Given the description of an element on the screen output the (x, y) to click on. 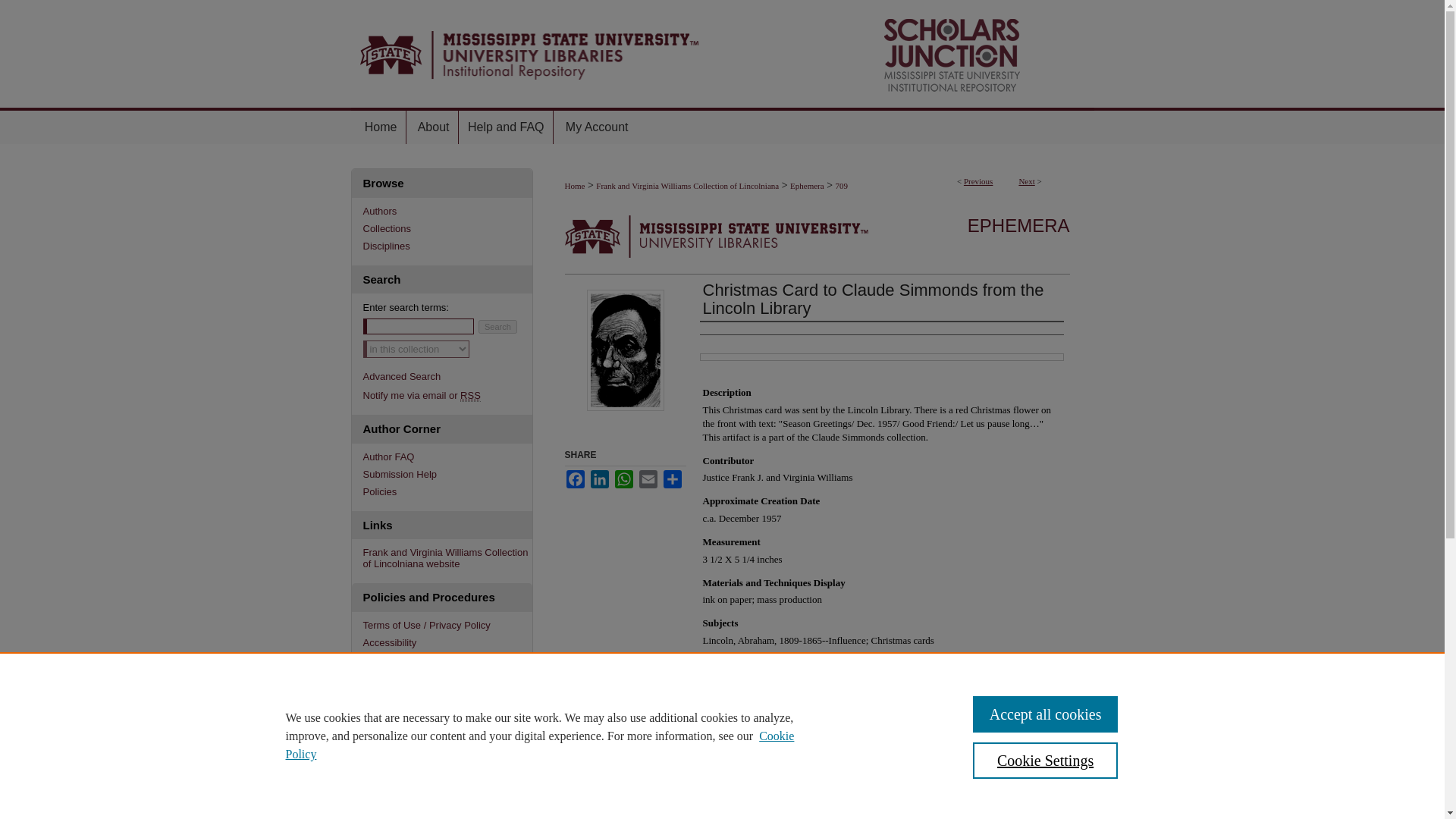
Browse by Disciplines (447, 244)
WhatsApp (622, 479)
Notify me via email or RSS (447, 395)
About (433, 127)
Copyright and Fair Use Guide (447, 659)
Search (497, 326)
LinkedIn (599, 479)
Scholars Junction (721, 53)
Next (1025, 180)
Frank and Virginia Williams Collection of Lincolniana (686, 185)
Home (379, 127)
Submission Help (447, 473)
Advanced Search (401, 376)
Author FAQ (447, 456)
